Given the description of an element on the screen output the (x, y) to click on. 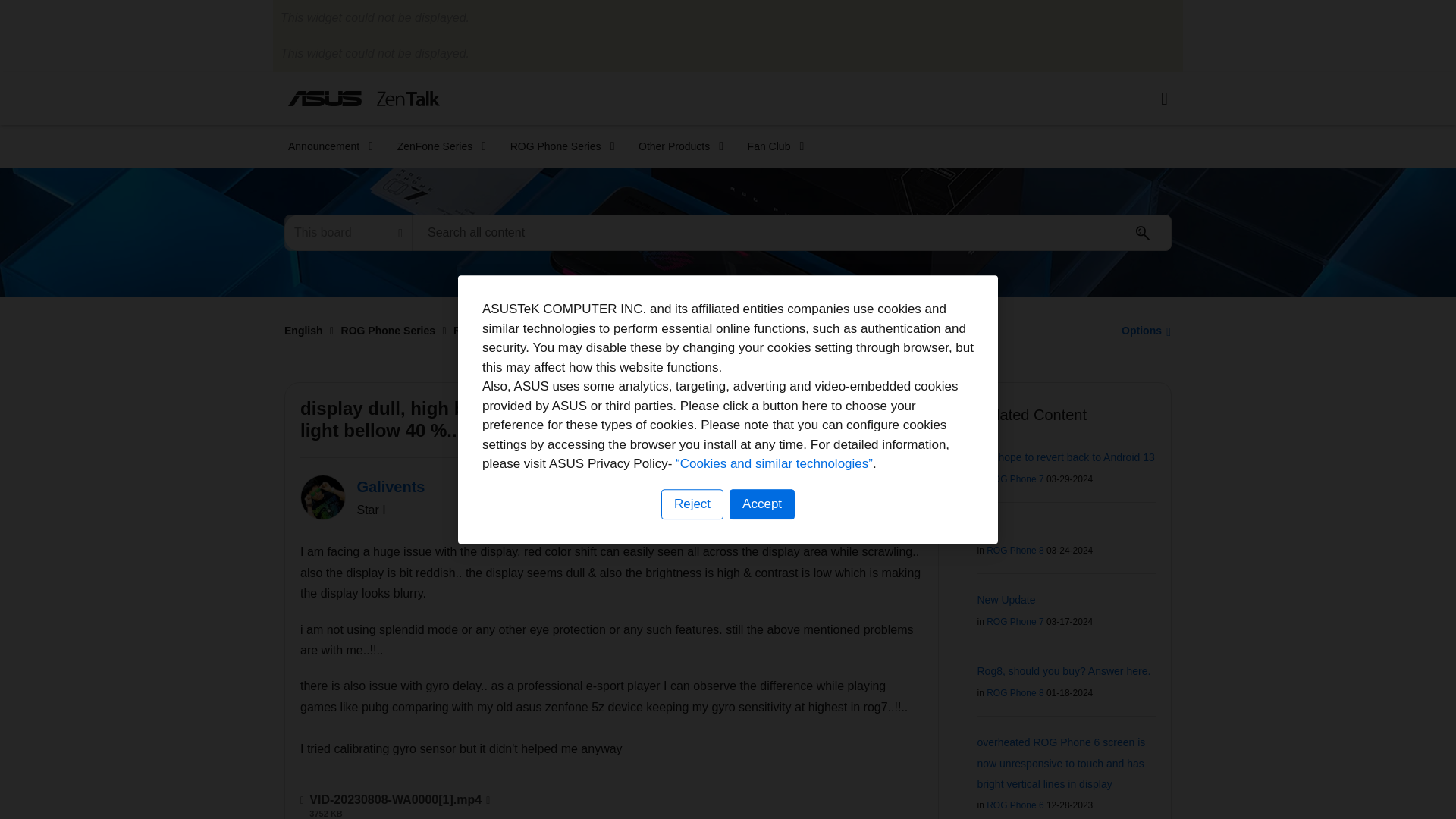
ASUS - ZenTalk (363, 97)
Search (1142, 232)
Announcement (325, 146)
Show option menu (1142, 330)
Search Granularity (347, 232)
ZenFone Series (436, 146)
Other Products (676, 146)
Search (1142, 232)
ROG Phone Series (557, 146)
Galivents (322, 497)
Search (792, 232)
Download attachment (488, 799)
